Given the description of an element on the screen output the (x, y) to click on. 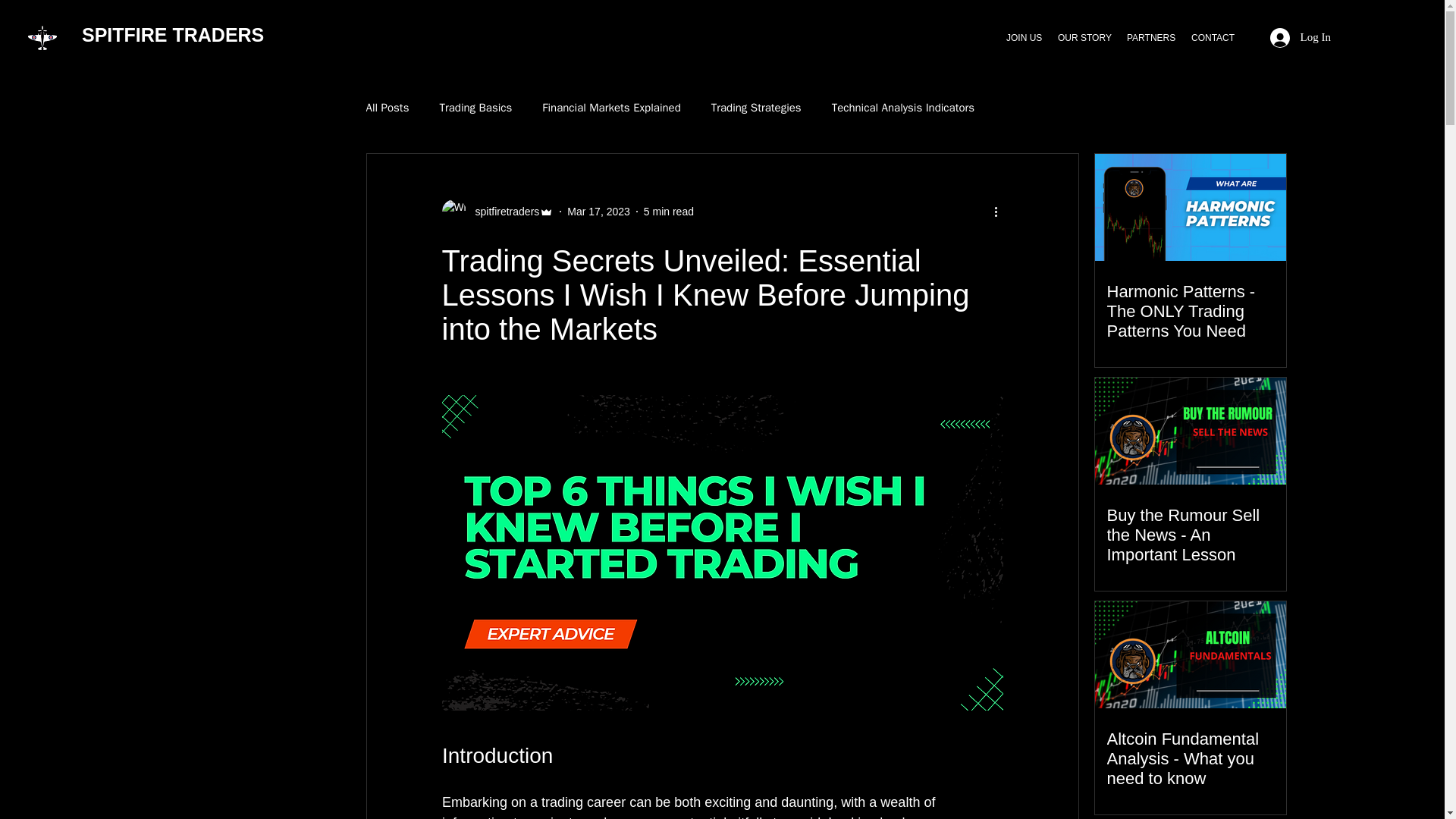
OUR STORY (1084, 37)
Mar 17, 2023 (598, 210)
spitfiretraders (497, 211)
Financial Markets Explained (610, 106)
JOIN US (1023, 37)
spitfiretraders (501, 211)
Trading Basics (475, 106)
SPITFIRE TRADERS (172, 34)
CONTACT (1212, 37)
All Posts (387, 106)
Technical Analysis Indicators (902, 106)
PARTNERS (1151, 37)
Log In (1299, 36)
Trading Strategies (756, 106)
5 min read (668, 210)
